Given the description of an element on the screen output the (x, y) to click on. 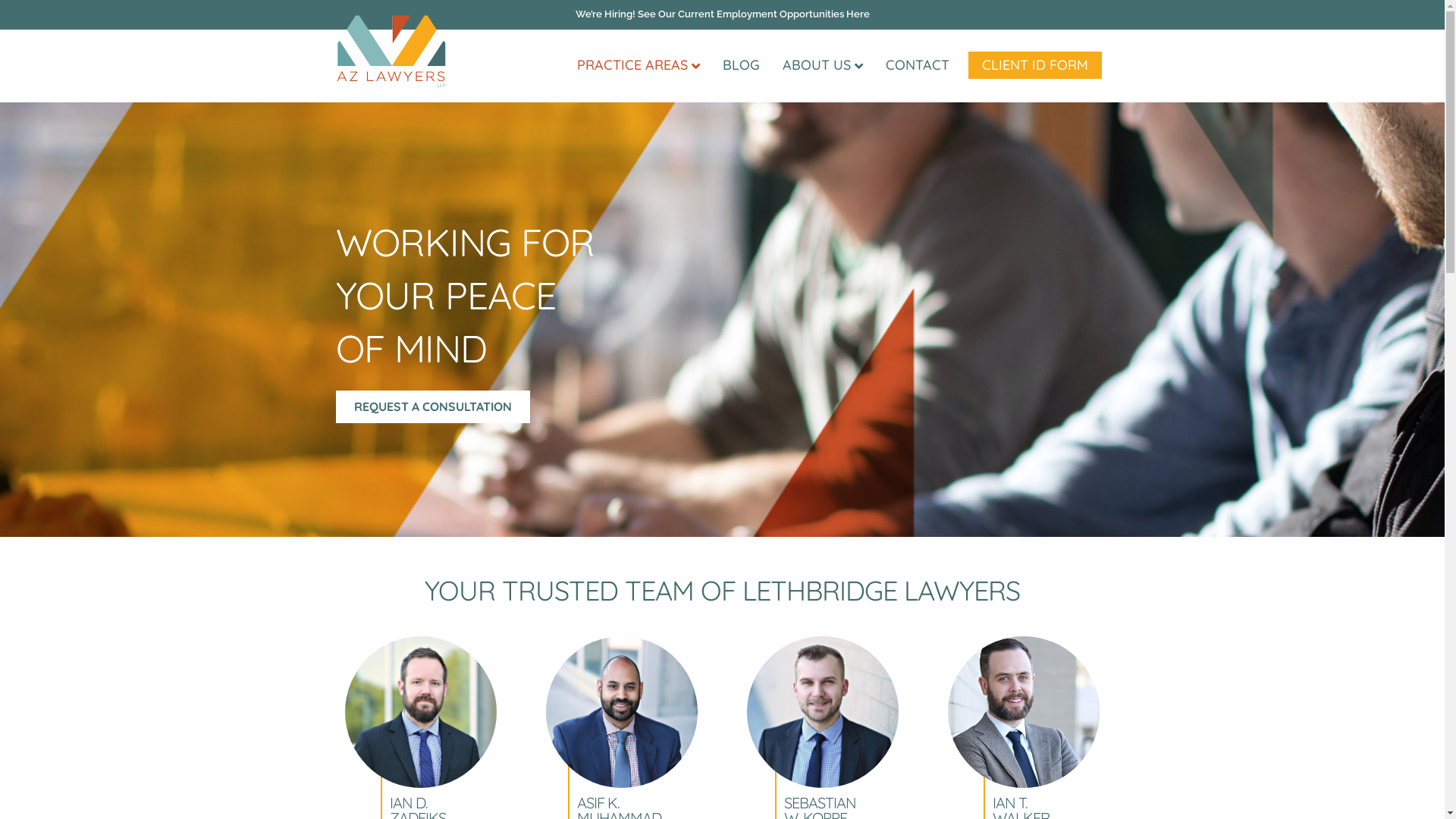
PRACTICE AREAS Element type: text (638, 65)
CLIENT ID FORM Element type: text (1034, 64)
BLOG Element type: text (741, 64)
ian-zadeiks-lawyer-warm-scaled Element type: hover (420, 711)
REQUEST A CONSULTATION Element type: text (432, 406)
ABOUT US Element type: text (821, 65)
CONTACT Element type: text (916, 64)
